Given the description of an element on the screen output the (x, y) to click on. 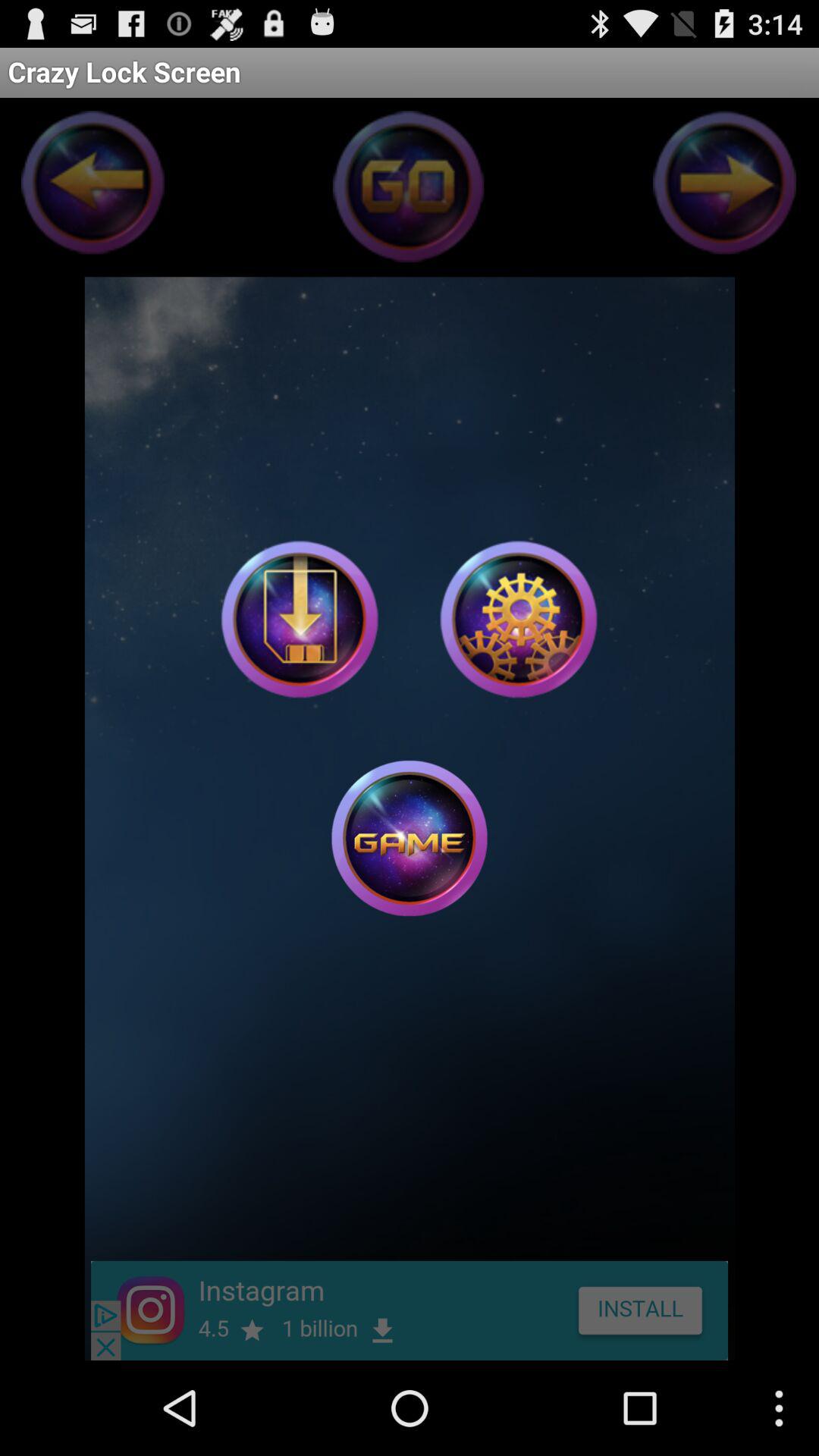
download game button (299, 618)
